Given the description of an element on the screen output the (x, y) to click on. 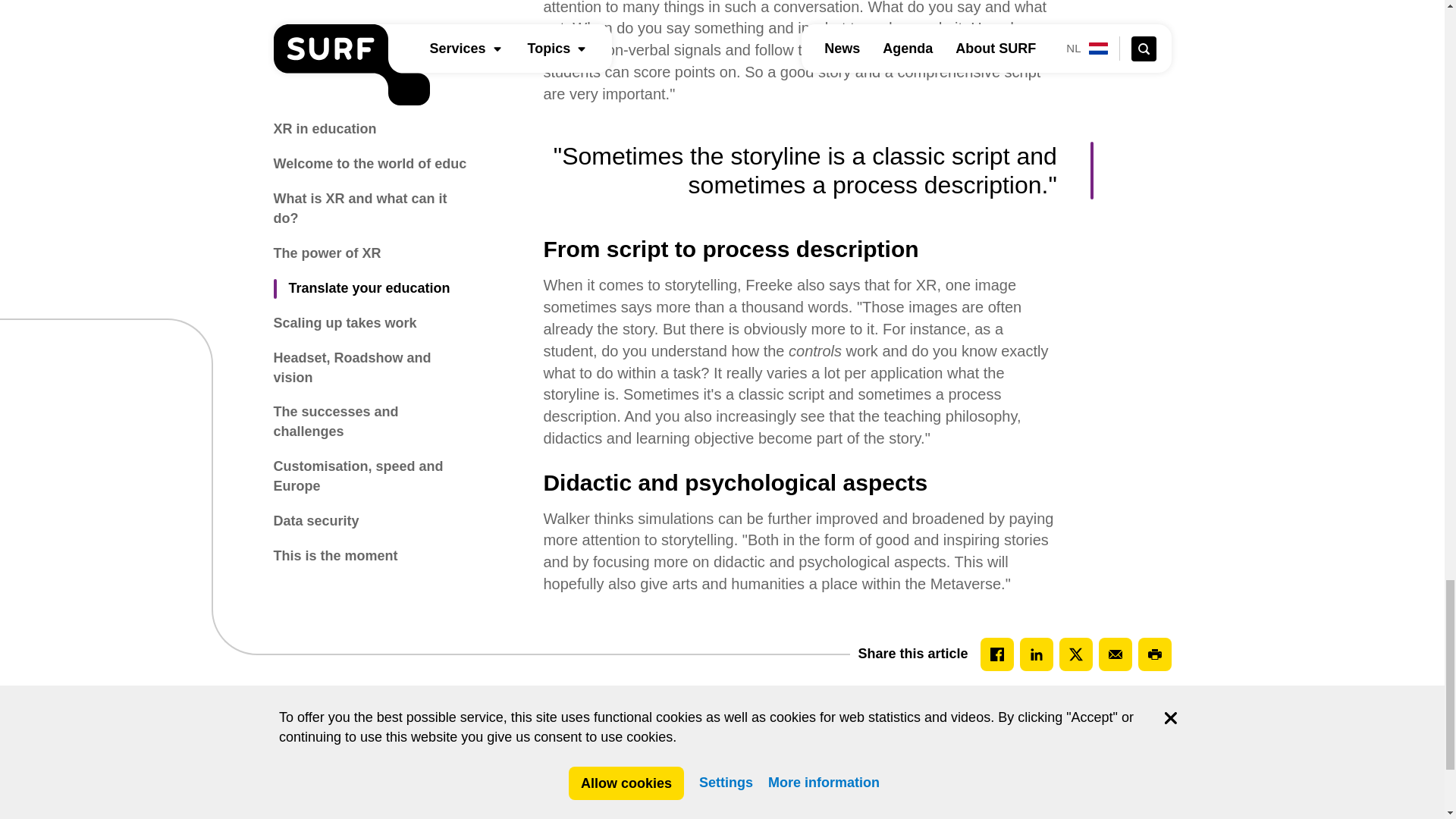
Email (1114, 654)
Twitter (1075, 654)
Print (1153, 654)
SURF vacatures (596, 809)
Facebook (996, 654)
Linkedin (1035, 654)
